Given the description of an element on the screen output the (x, y) to click on. 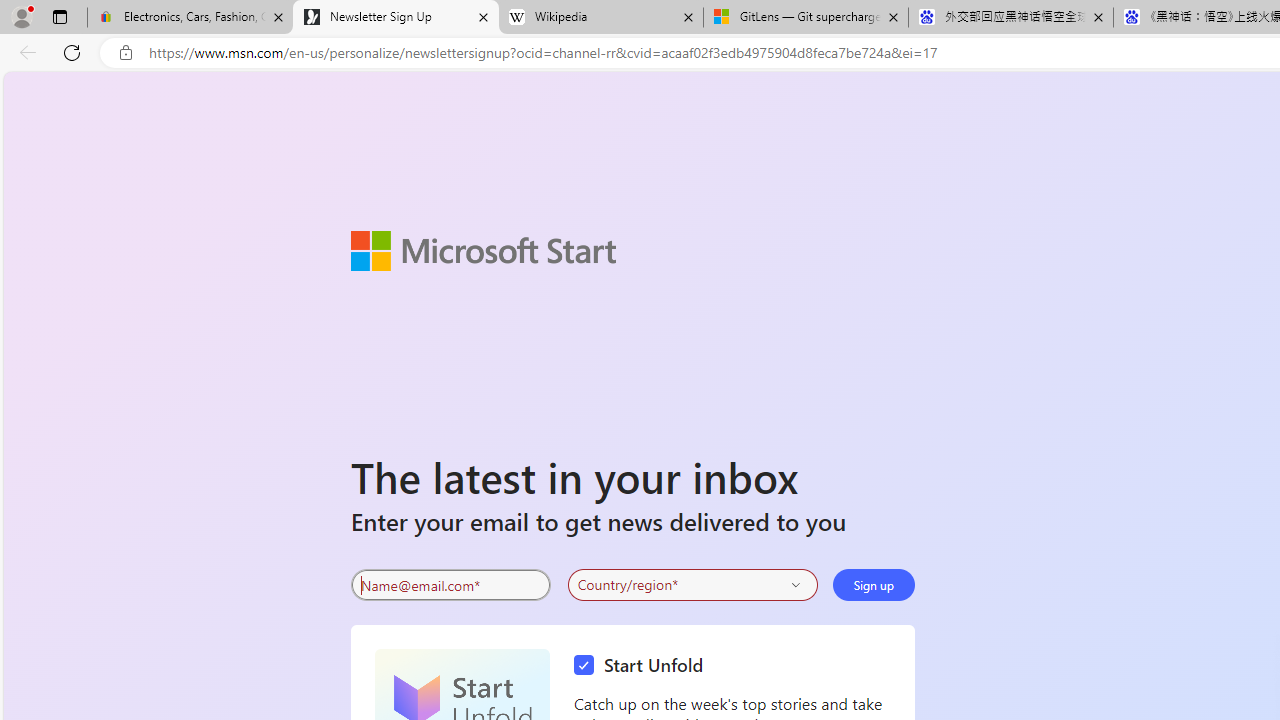
Select your country (692, 584)
